Given the description of an element on the screen output the (x, y) to click on. 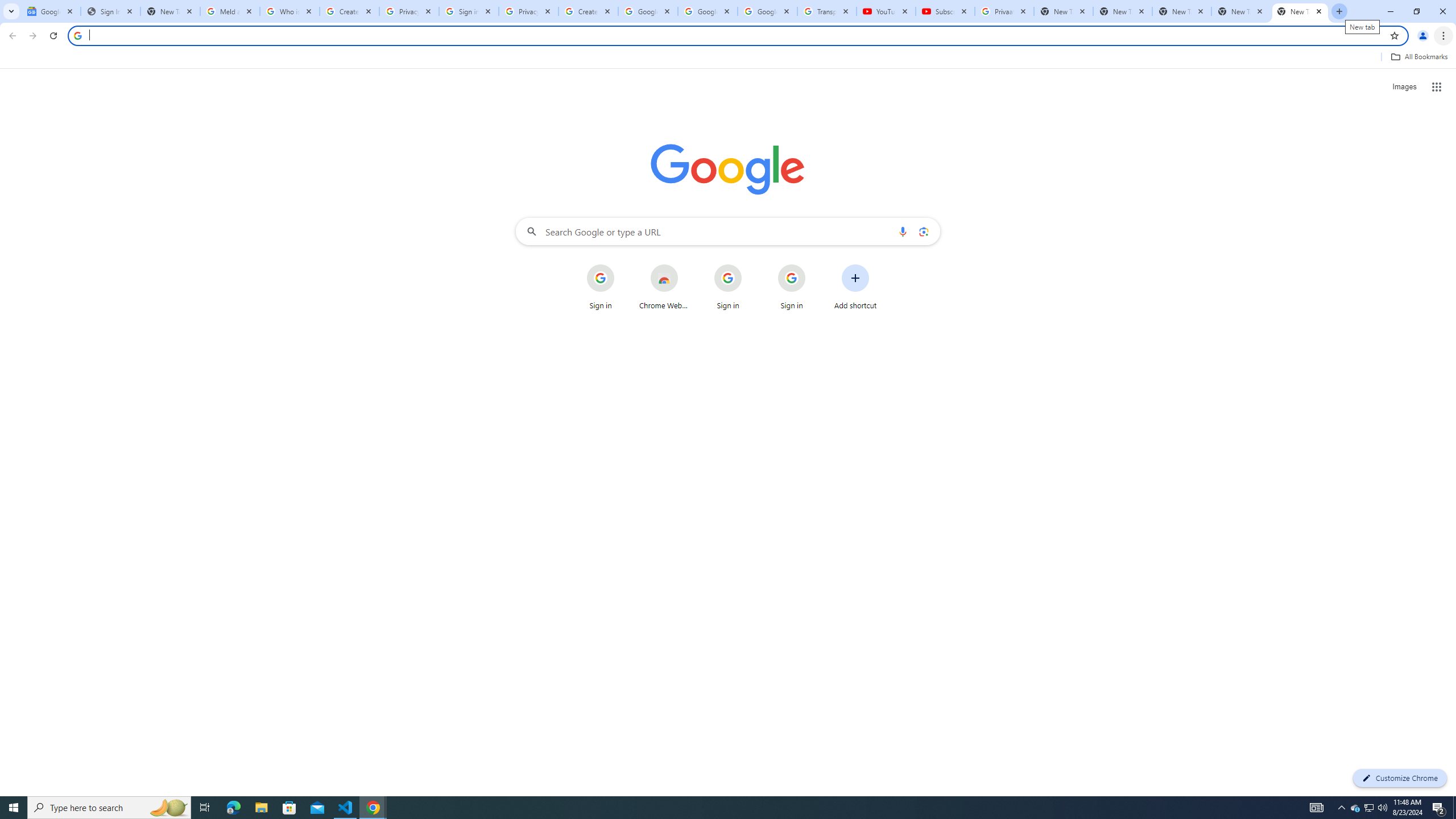
Create your Google Account (588, 11)
Google News (50, 11)
Google Account (767, 11)
Sign in - Google Accounts (468, 11)
Sign In - USA TODAY (110, 11)
